Given the description of an element on the screen output the (x, y) to click on. 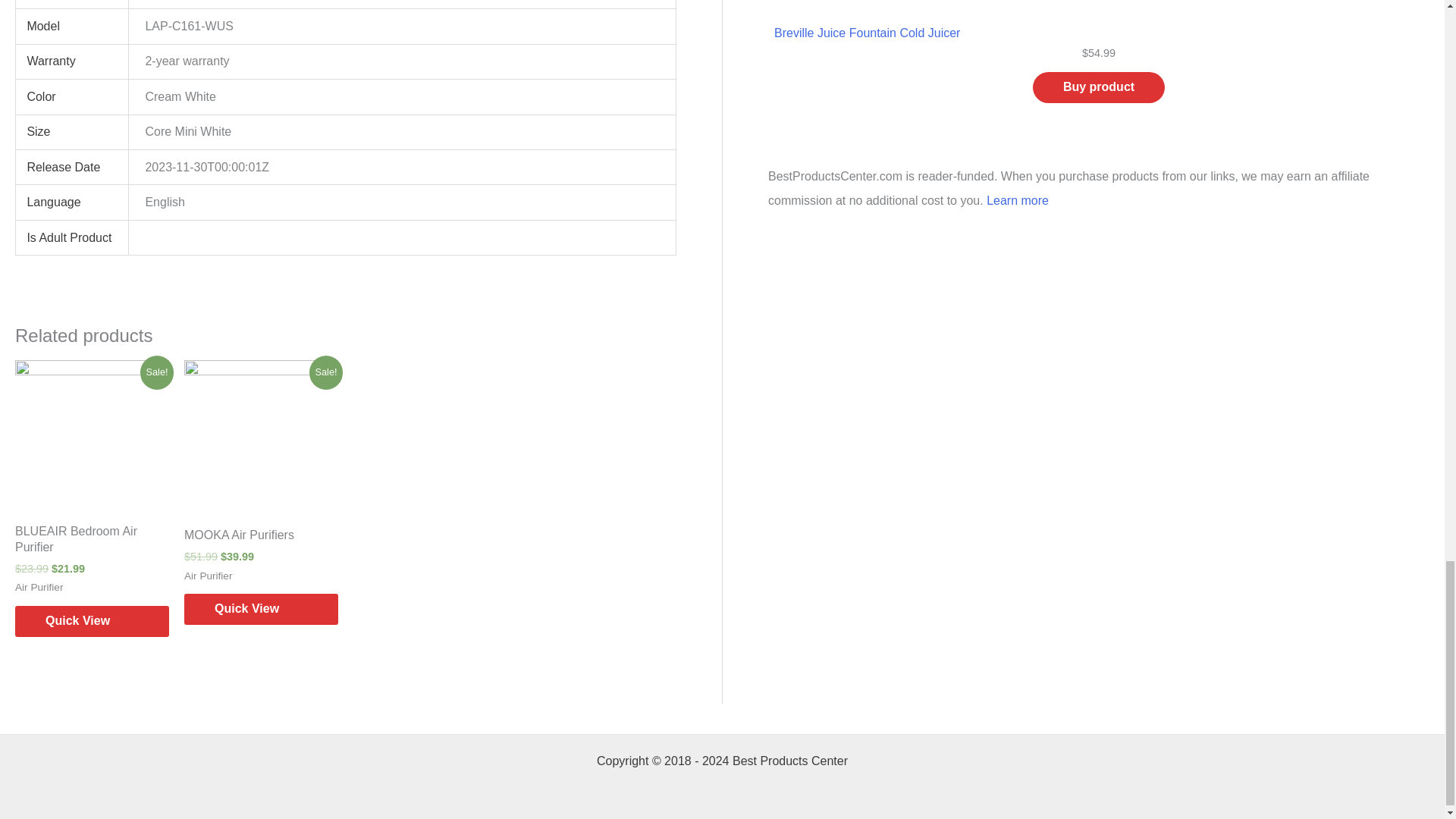
Quick View (260, 608)
BLUEAIR Bedroom Air Purifier (91, 542)
MOOKA Air Purifiers (260, 538)
Quick View (91, 621)
